Given the description of an element on the screen output the (x, y) to click on. 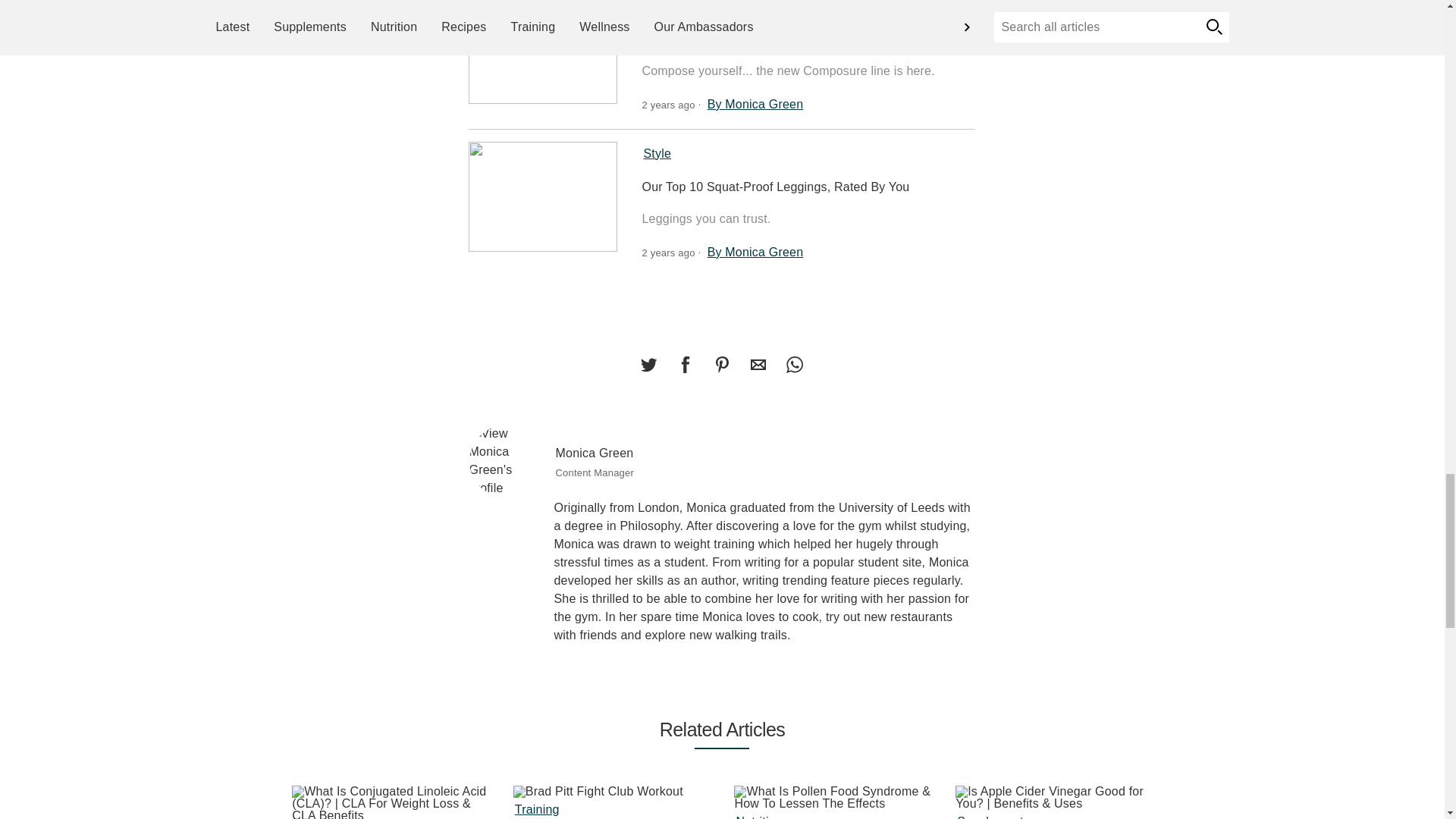
Share this on WhatsApp (793, 364)
Share this by Email (757, 364)
Share this on Facebook (684, 364)
Share this on Twitter (648, 364)
Monica Green (505, 461)
Share this on Pinterest (721, 364)
